Given the description of an element on the screen output the (x, y) to click on. 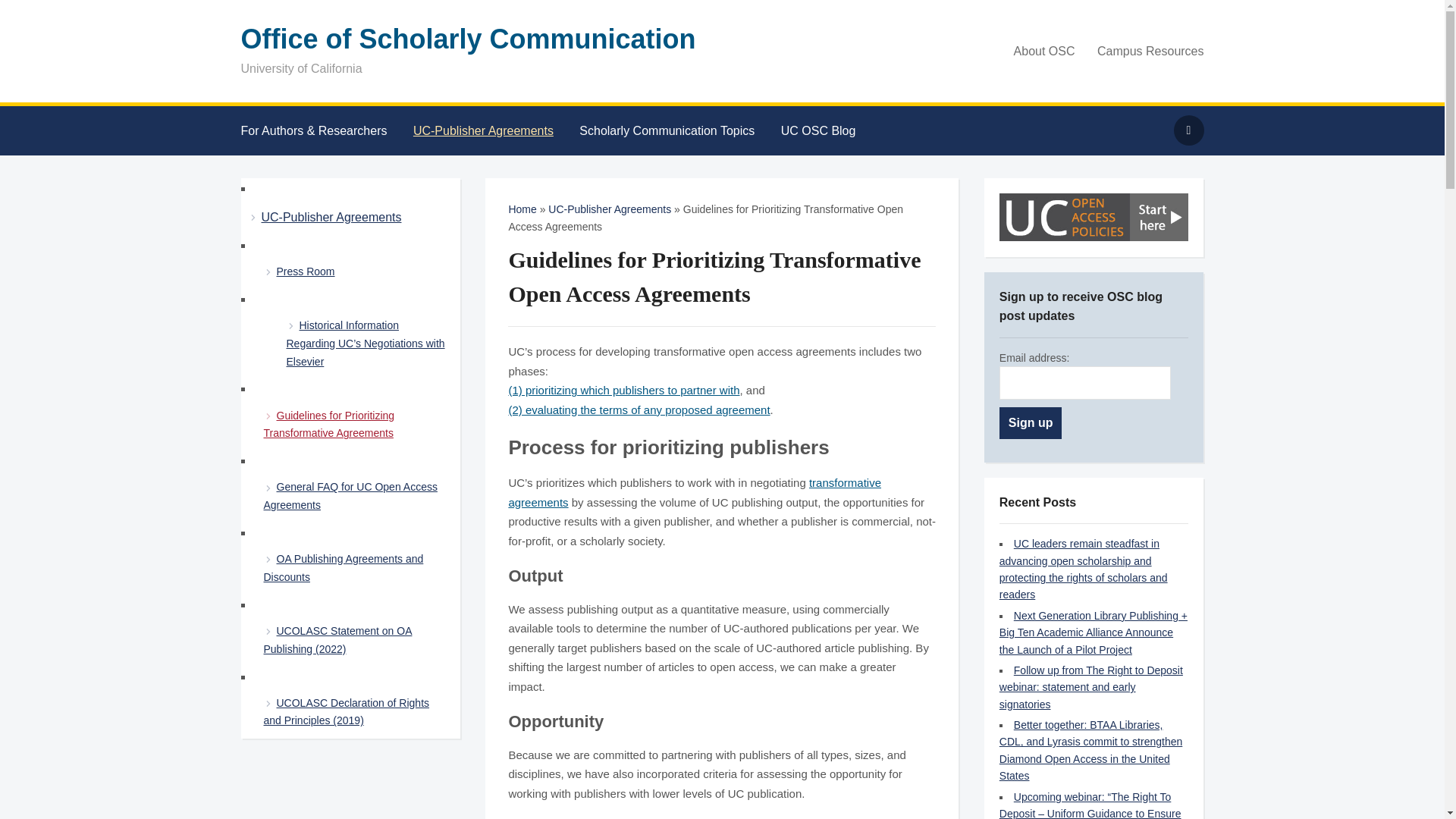
Campus Resources (1141, 51)
About OSC (1034, 51)
Sign up (1030, 422)
University of California (468, 38)
Office of Scholarly Communication (468, 38)
